Given the description of an element on the screen output the (x, y) to click on. 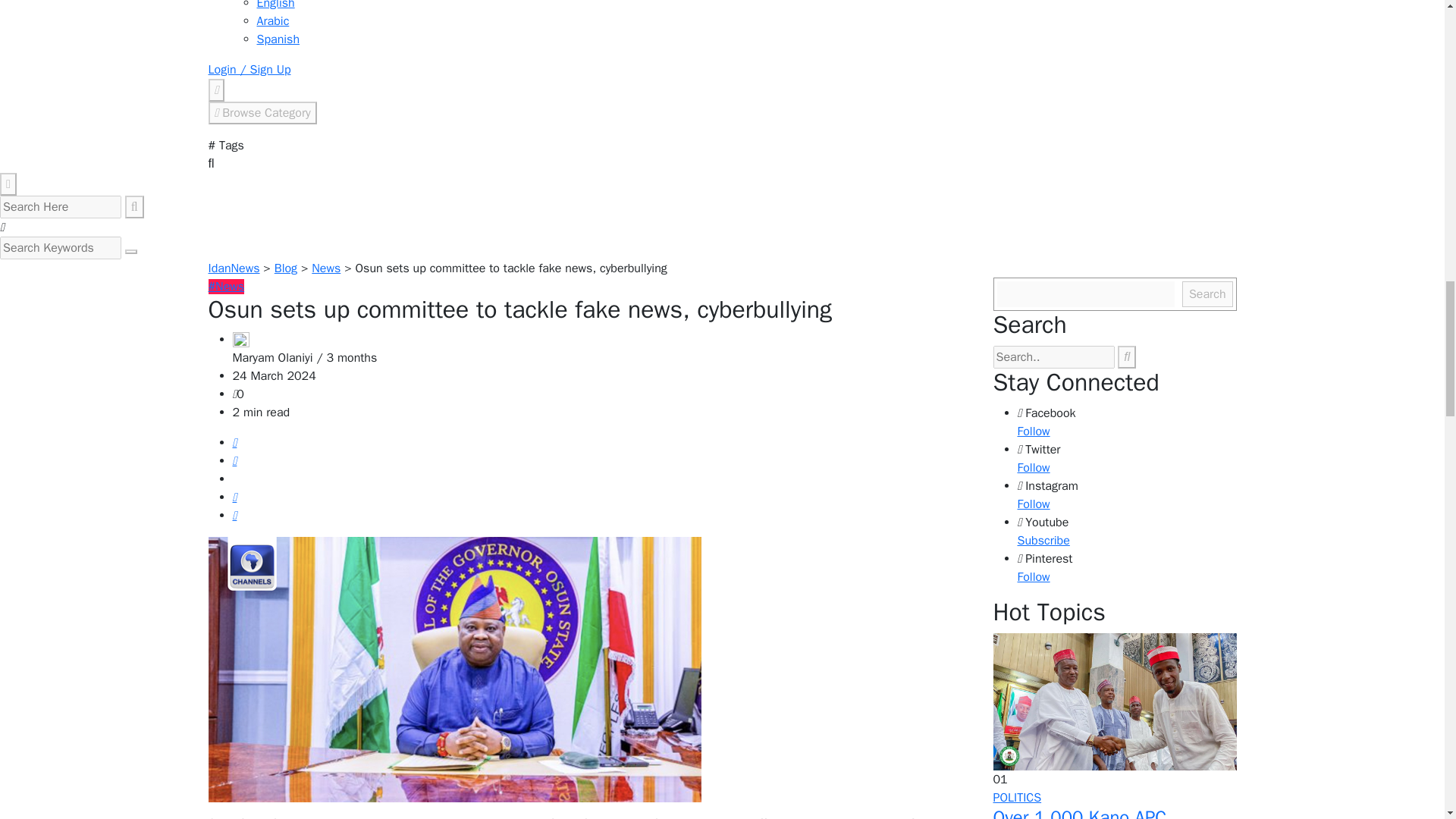
Arabic (272, 20)
Spanish (277, 38)
Go to Blog. (286, 268)
English (275, 5)
Go to IdanNews. (233, 268)
Go to the News Category archives. (325, 268)
